Given the description of an element on the screen output the (x, y) to click on. 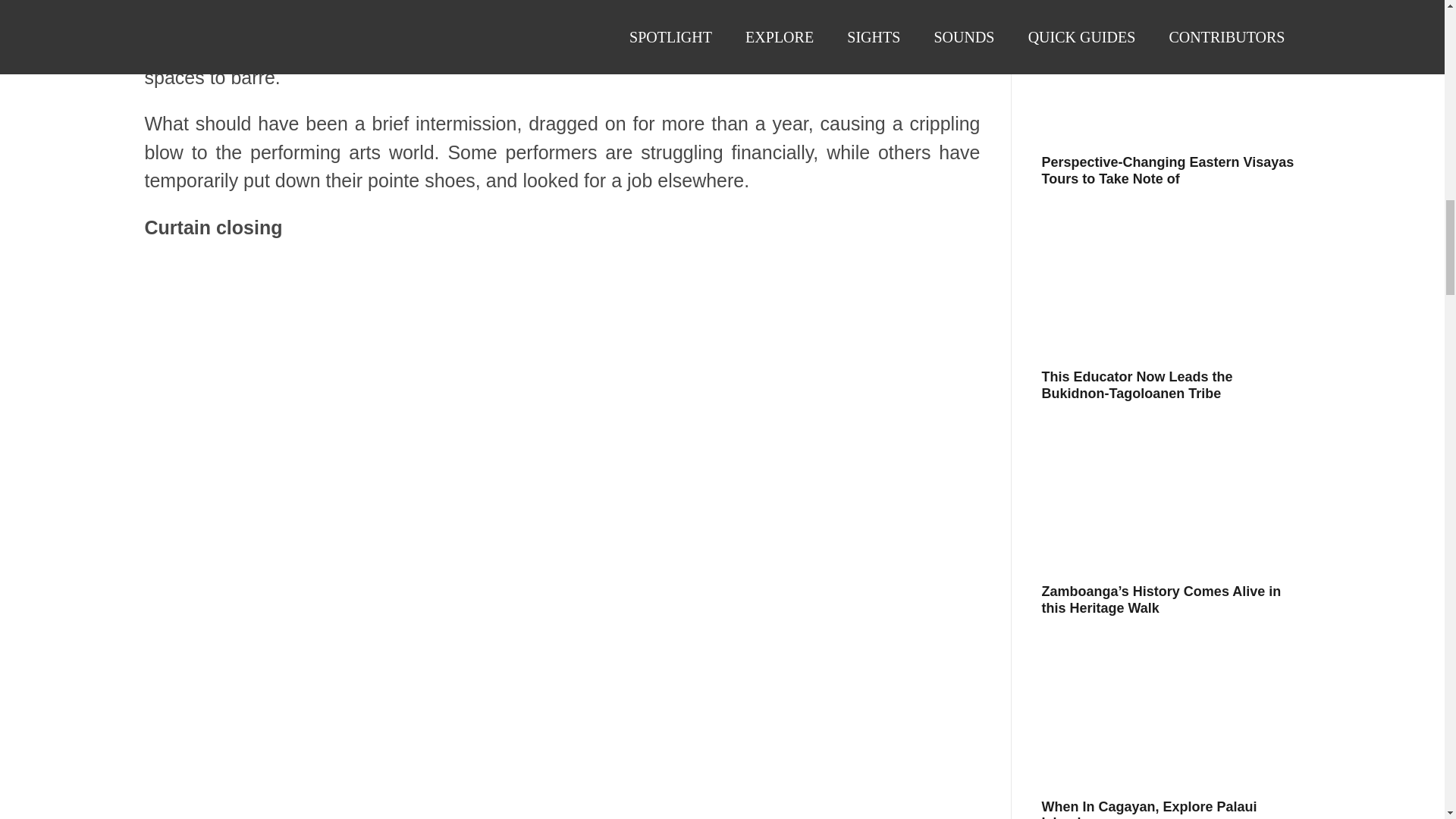
Perspective-Changing Eastern Visayas Tours to Take Note of (1168, 170)
When In Cagayan, Explore Palaui Island (1149, 809)
This Educator Now Leads the Bukidnon-Tagoloanen Tribe (1137, 385)
